Given the description of an element on the screen output the (x, y) to click on. 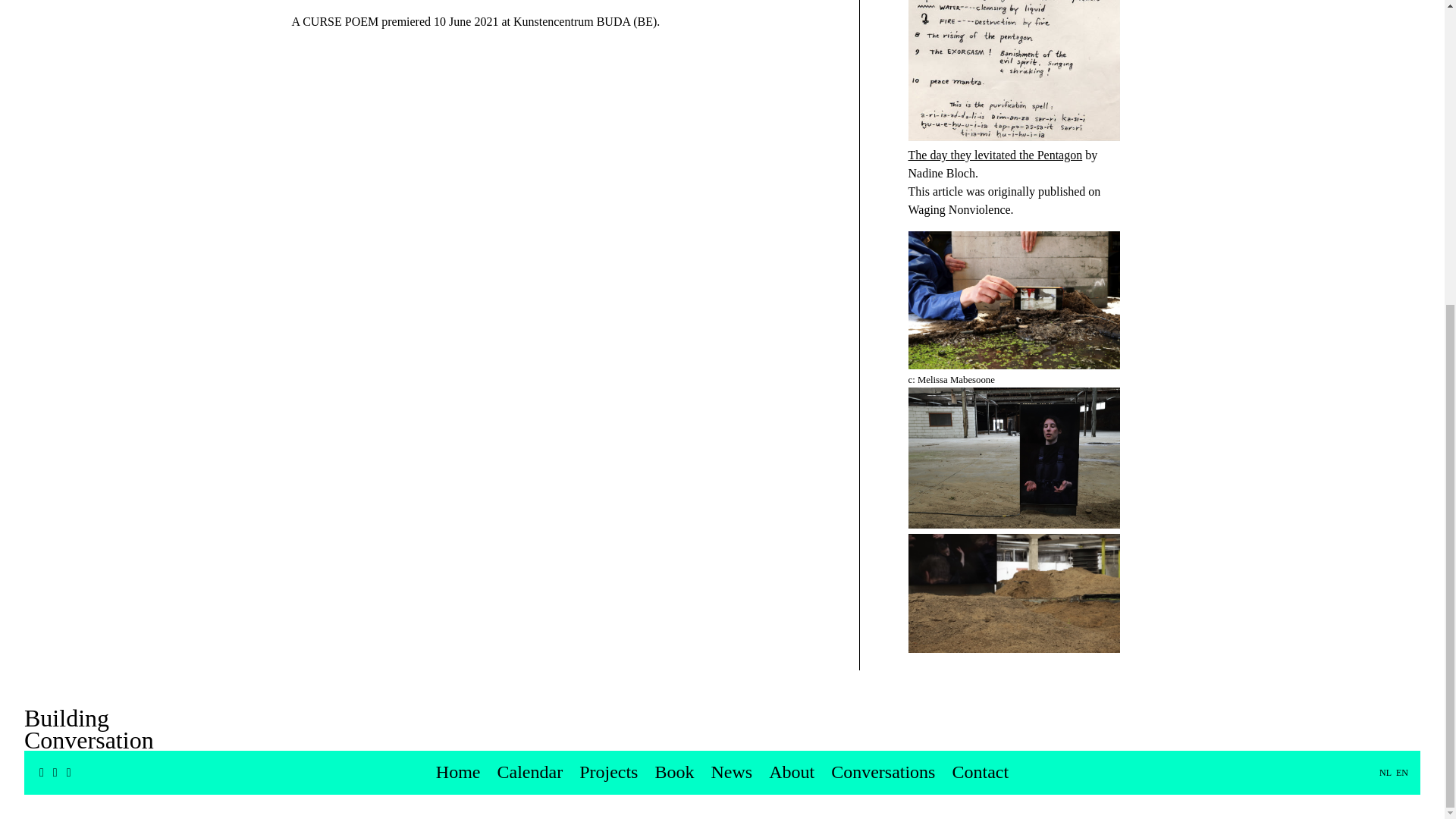
 NL (1384, 294)
Calendar (530, 293)
Projects (608, 293)
News (731, 293)
NL (1384, 294)
The day they levitated the Pentagon (995, 154)
Home (457, 293)
Conversations (882, 293)
About (790, 293)
Contact (980, 293)
